Given the description of an element on the screen output the (x, y) to click on. 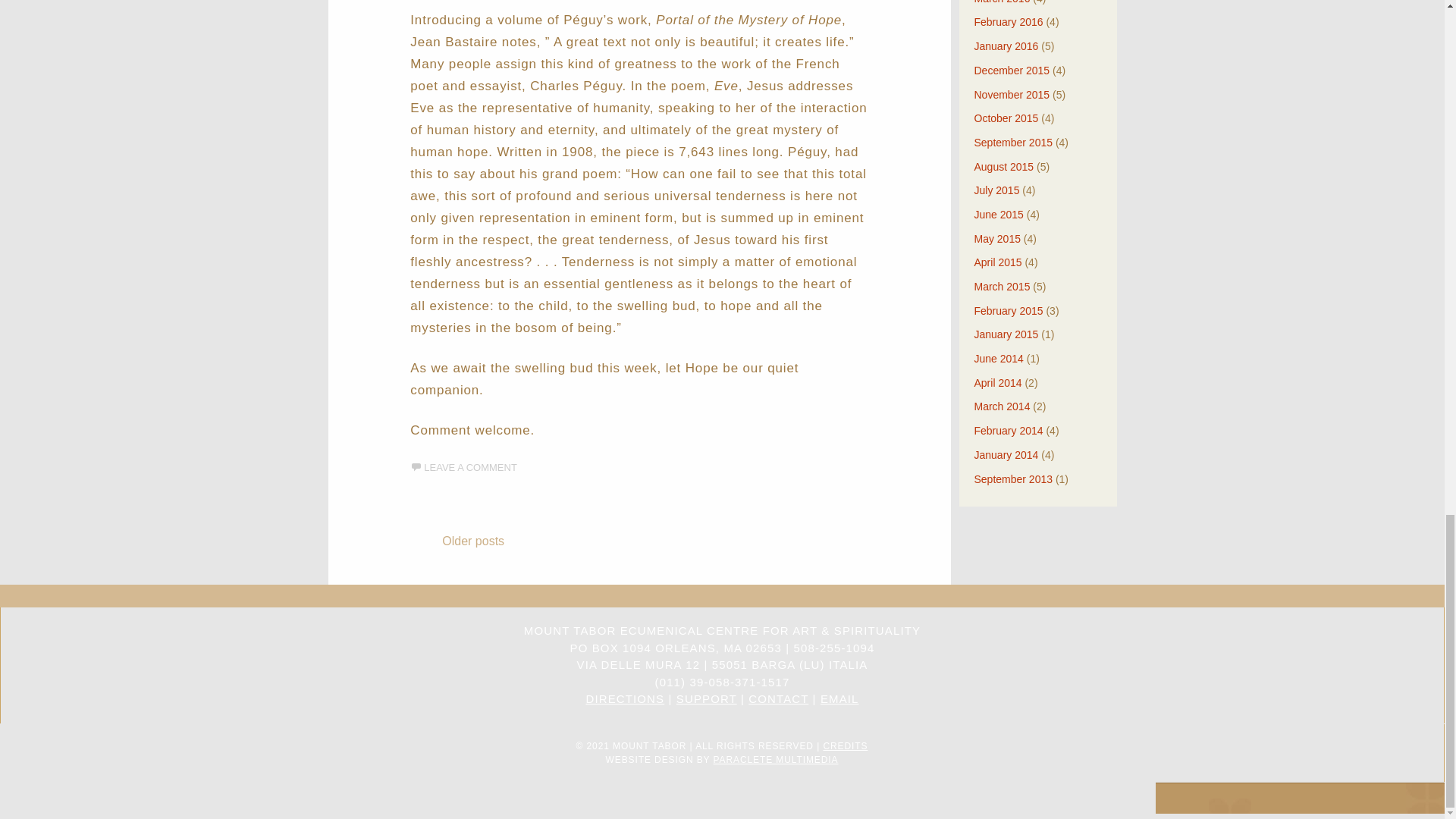
LEAVE A COMMENT (463, 467)
